Given the description of an element on the screen output the (x, y) to click on. 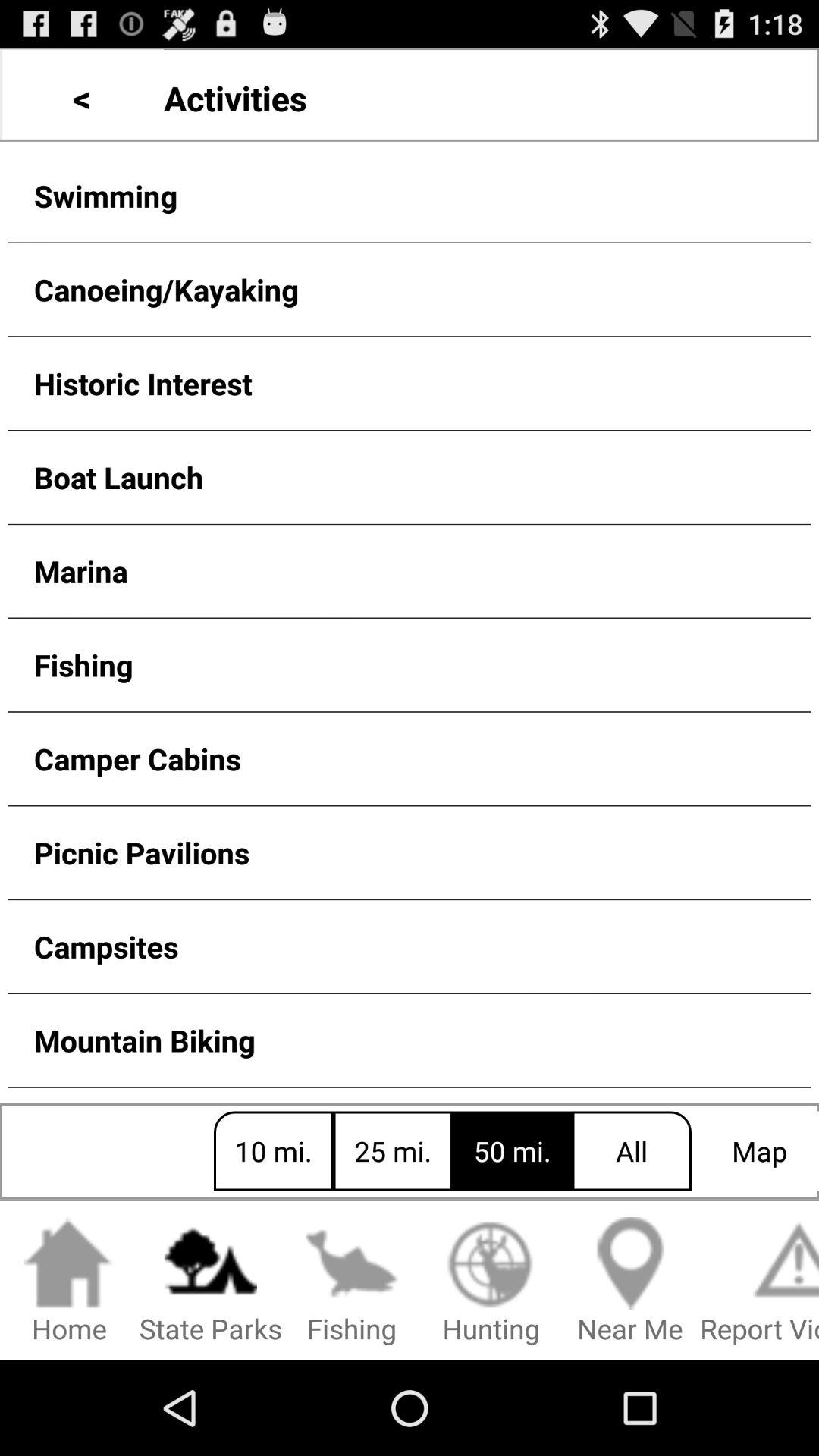
select the near me item (630, 1282)
